Given the description of an element on the screen output the (x, y) to click on. 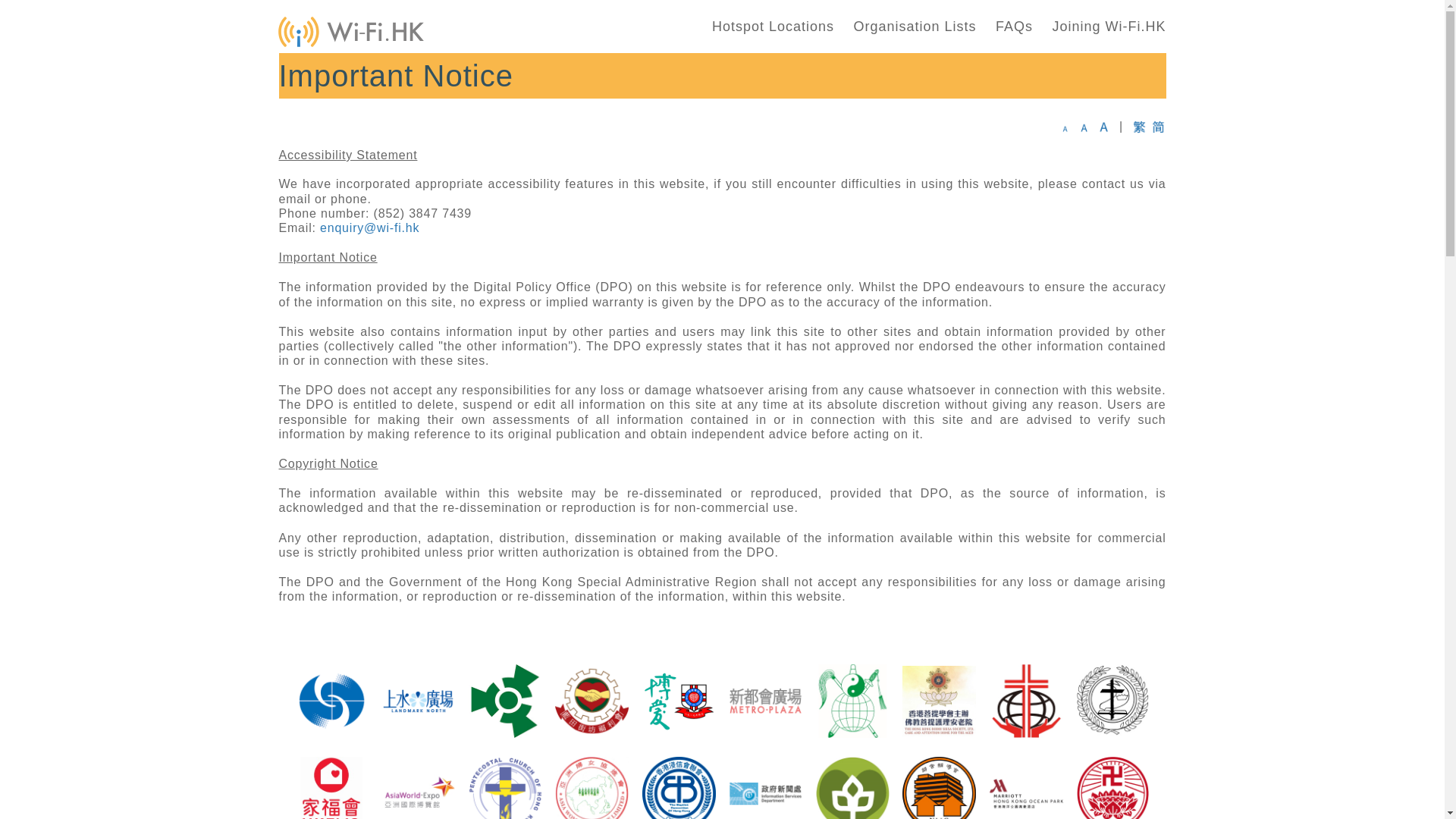
Wi-Fi.HK (350, 31)
Joining Wi-Fi.HK (1108, 25)
Pentecostal Holiness Church Inc. (1112, 700)
Hotspot Locations (772, 25)
Methodist Epworth Village Community Centre, Social Welfare (504, 700)
Hong Kong Observatory (331, 700)
Landmark North (417, 700)
Metroplaza (765, 700)
Pok Oi Hospital (679, 700)
Hong Kong Family Welfare Society (331, 787)
Organisation Lists (914, 25)
AsiaWorld-Expo Management Limited (417, 787)
Ching Chung Taoist Association of Hong Kong Limited (852, 700)
